Given the description of an element on the screen output the (x, y) to click on. 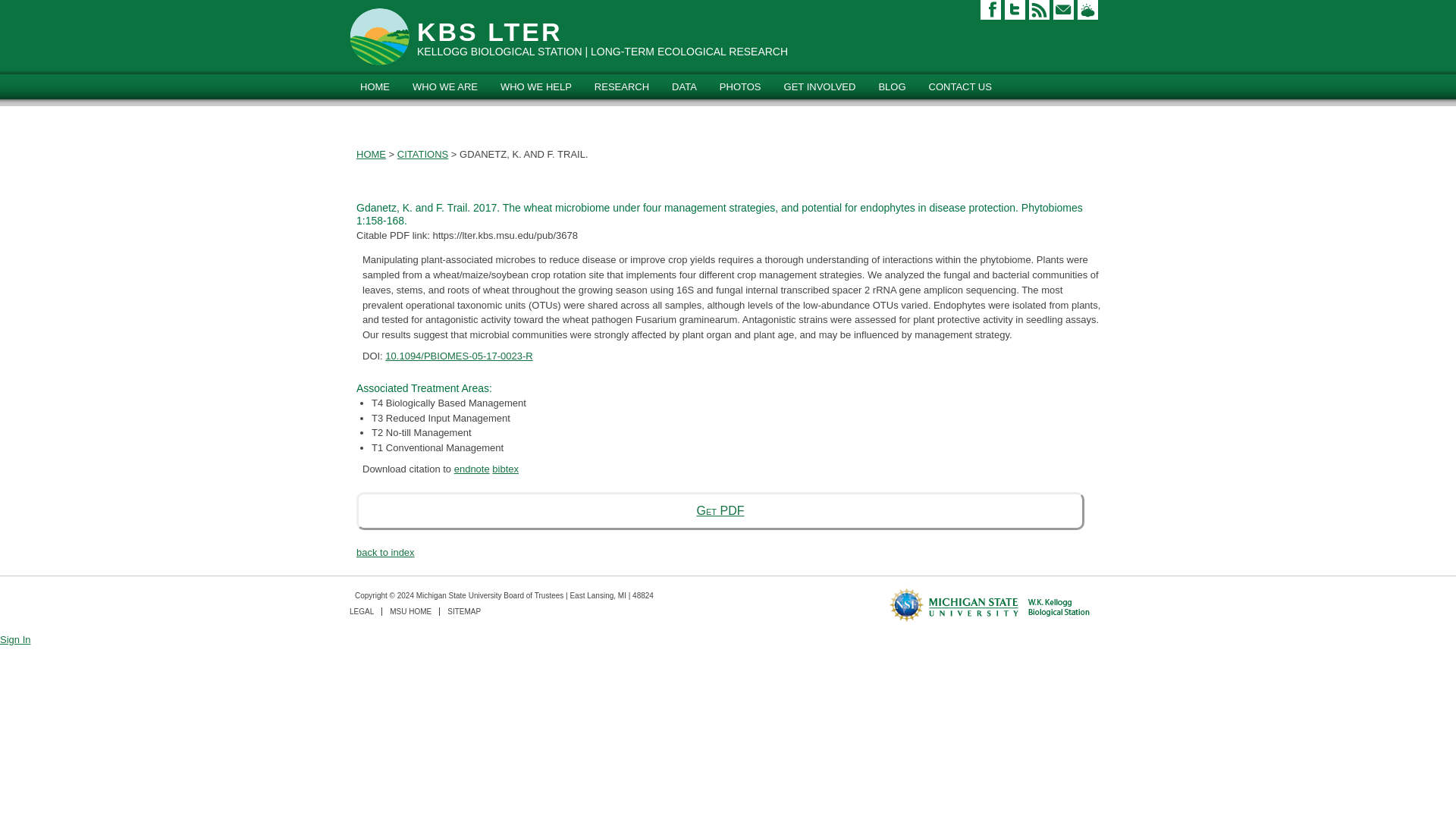
WHO WE ARE (445, 86)
RESEARCH (622, 86)
WHO WE HELP (536, 86)
HOME (375, 86)
